Given the description of an element on the screen output the (x, y) to click on. 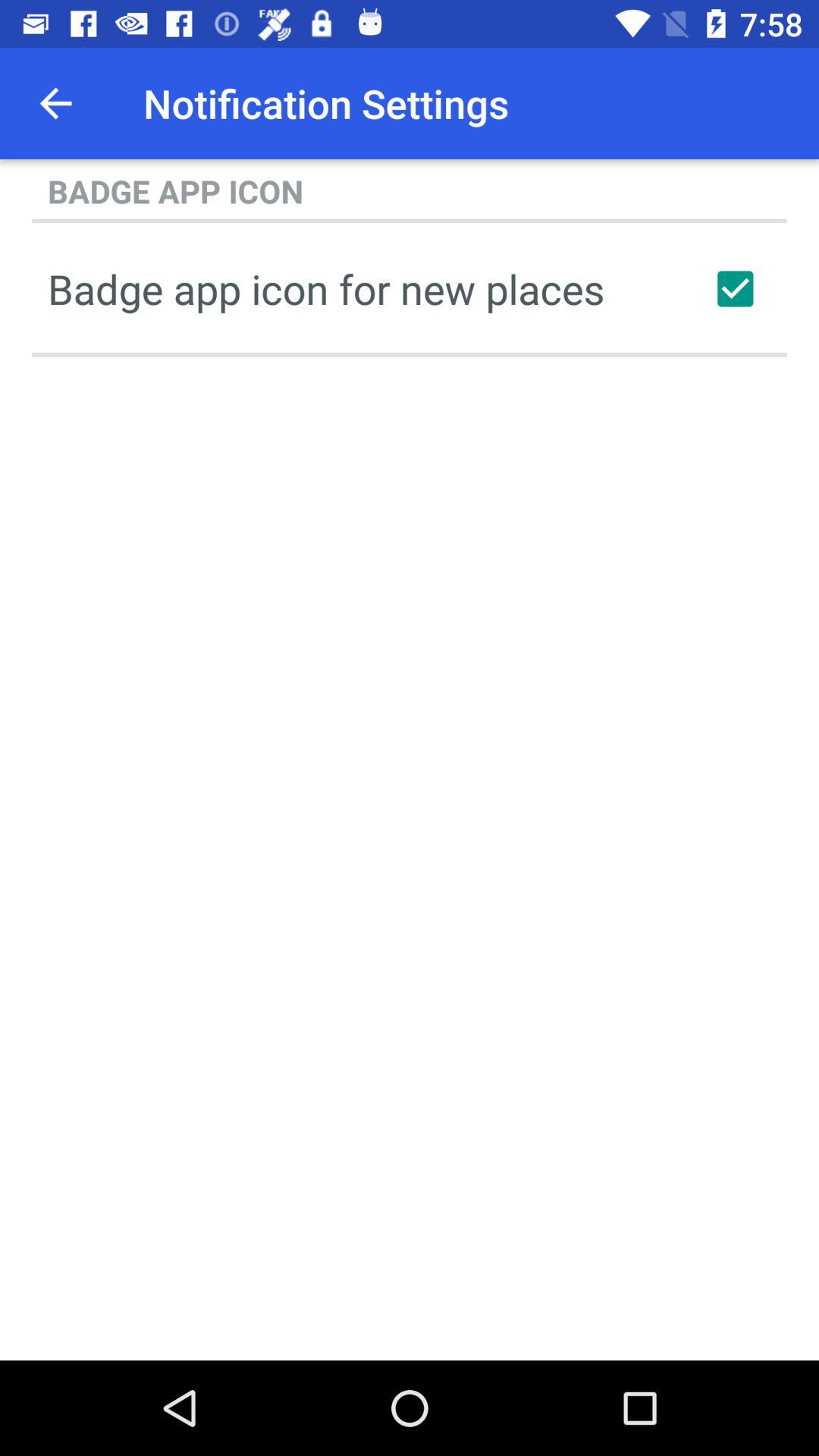
turn on the icon next to notification settings icon (55, 103)
